Given the description of an element on the screen output the (x, y) to click on. 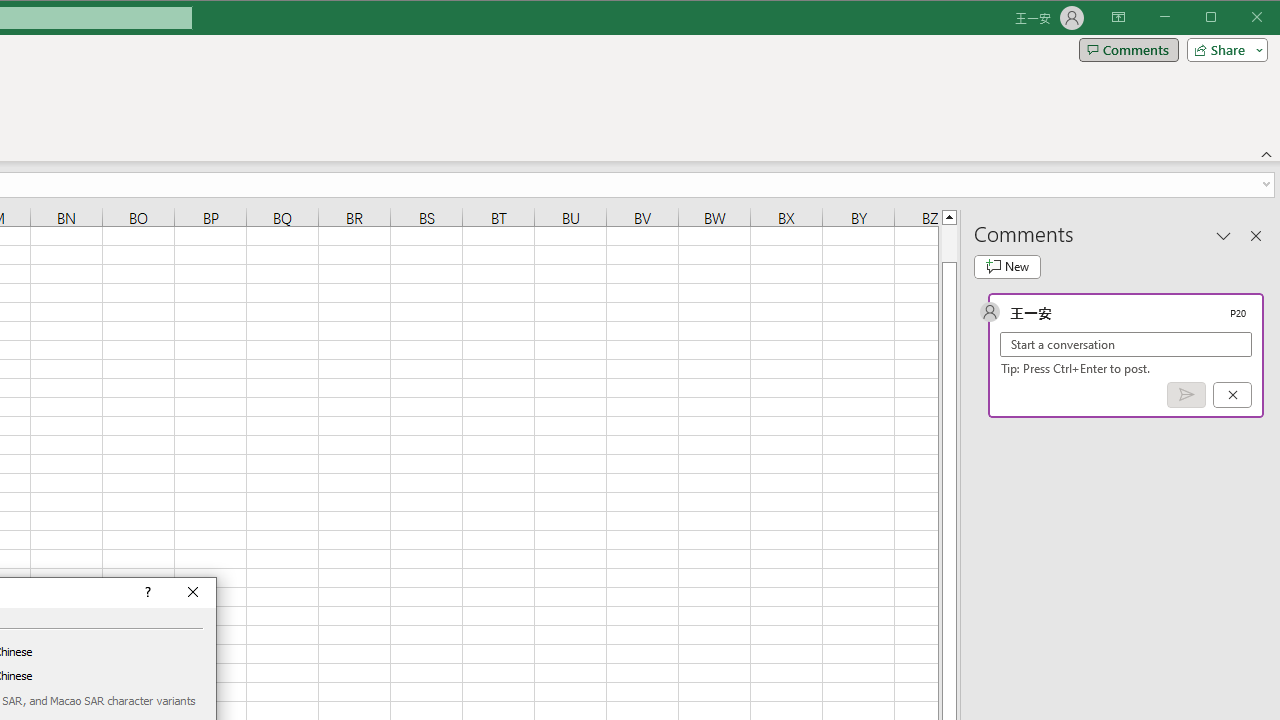
Start a conversation (1126, 344)
Context help (146, 592)
Post comment (Ctrl + Enter) (1186, 395)
Page up (948, 243)
Maximize (1239, 18)
Task Pane Options (1224, 235)
Cancel (1232, 395)
Close pane (1256, 235)
